Given the description of an element on the screen output the (x, y) to click on. 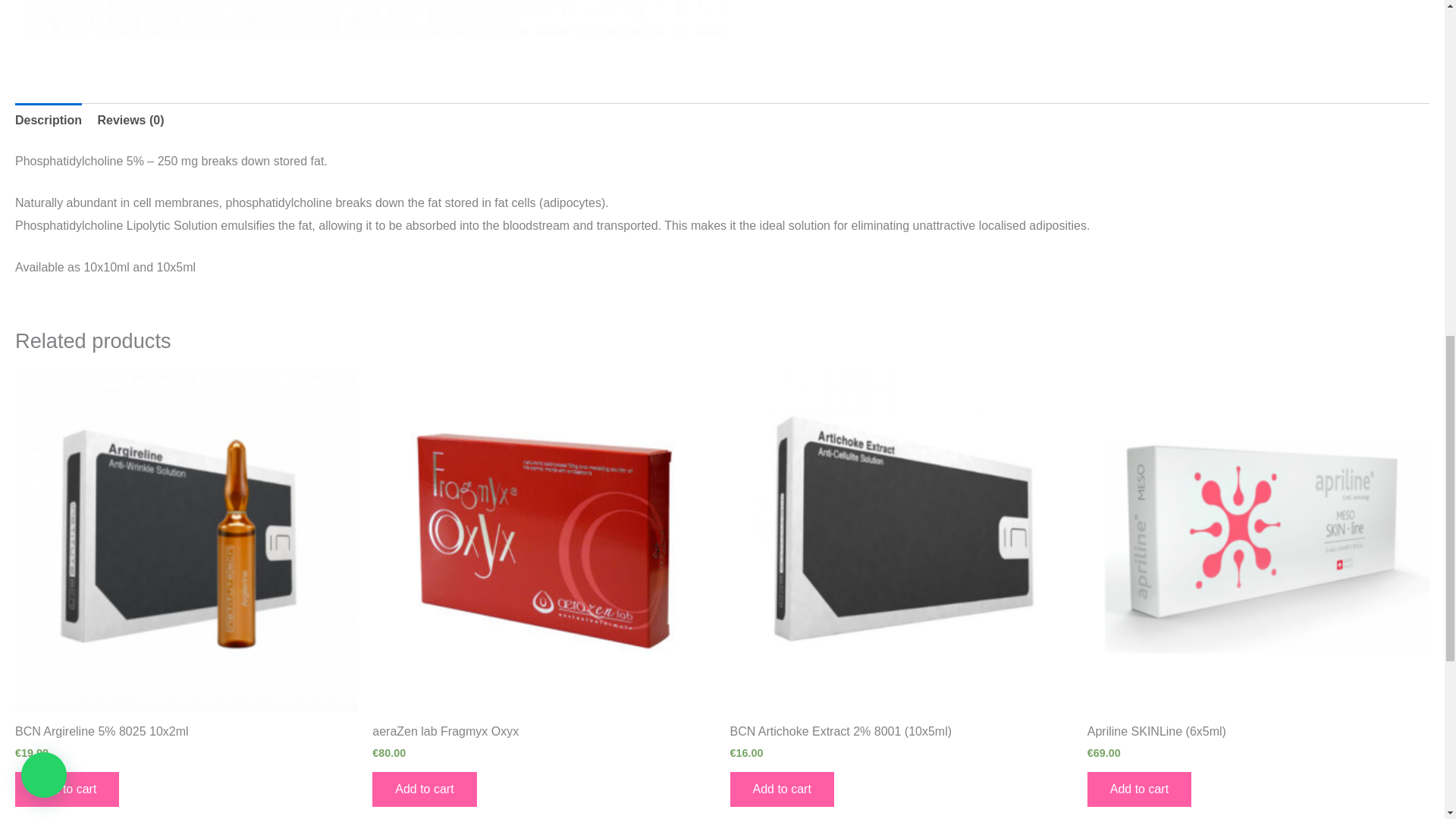
BCN-Phosphatidylcholine-5-8016-10X5ML.jpg (368, 27)
